Given the description of an element on the screen output the (x, y) to click on. 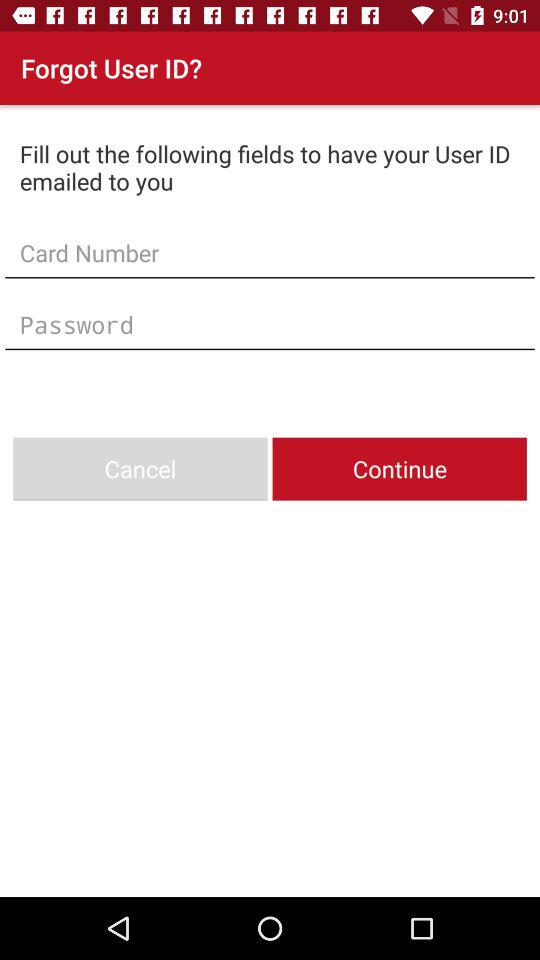
launch the icon next to the cancel item (399, 468)
